Given the description of an element on the screen output the (x, y) to click on. 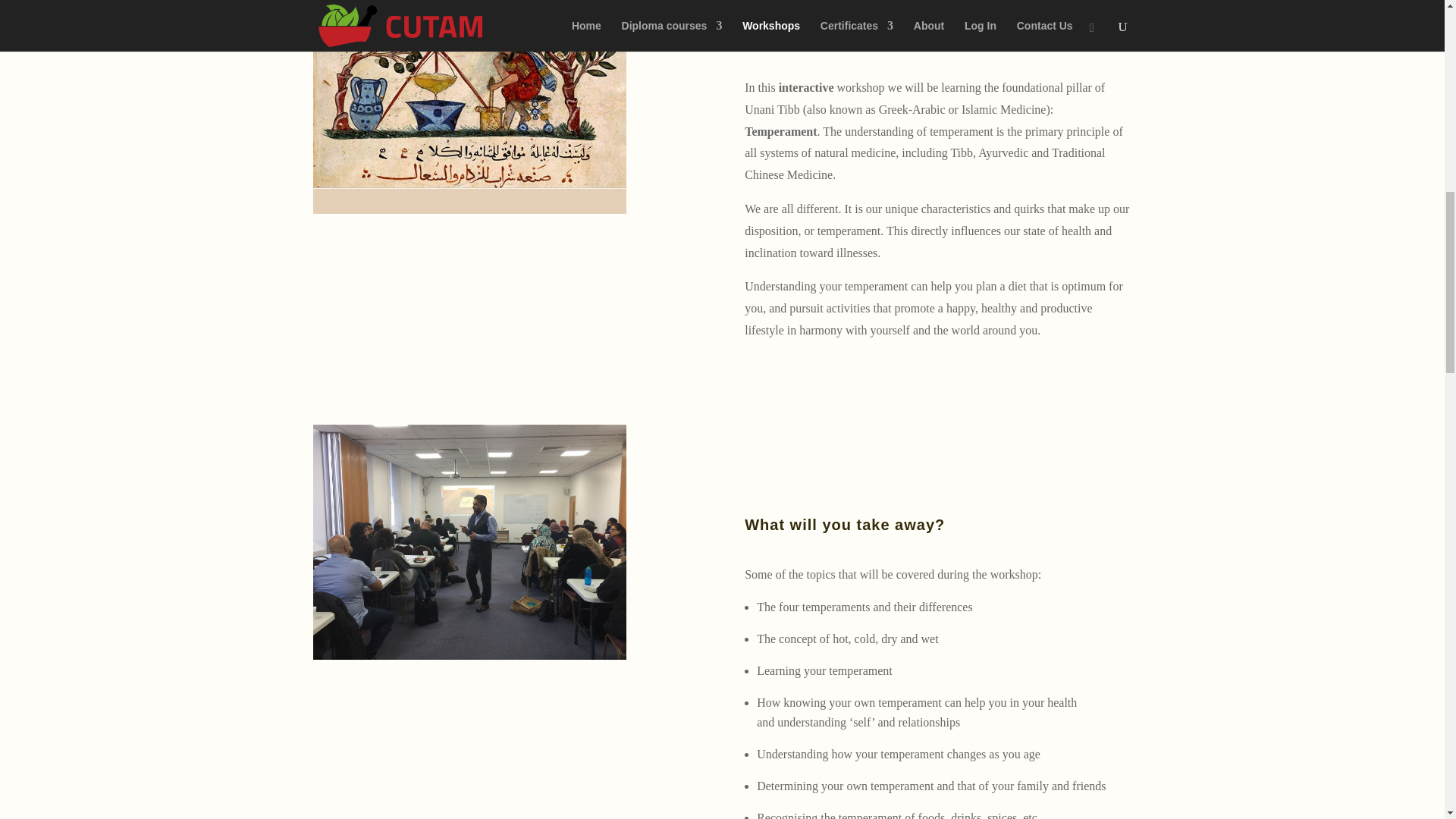
unani (469, 106)
oldham (469, 542)
